Given the description of an element on the screen output the (x, y) to click on. 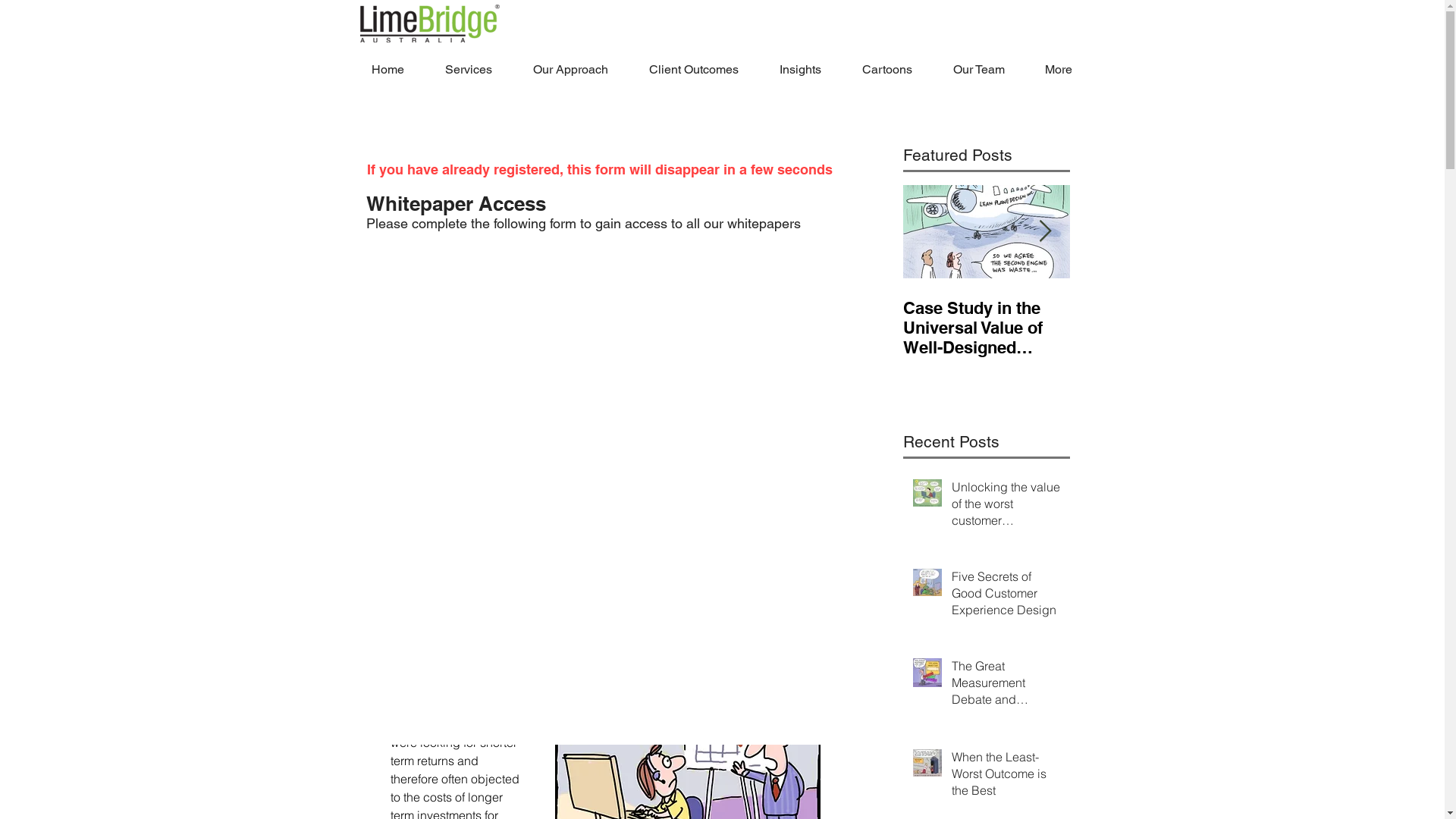
The Great Measurement Debate and Working from Home Element type: text (1005, 685)
Cartoons Element type: text (886, 69)
Omni-Channel Best Service is No Service Element type: text (1319, 327)
Client Outcomes Element type: text (692, 69)
Unlocking the value of the worst customer experiences Element type: text (1005, 506)
Five Secrets of Good Customer Experience Design Element type: text (1005, 595)
Customer Centric Answers to Bad Business Practices Element type: text (1152, 327)
Services Element type: text (468, 69)
Chatham House rules Element type: text (504, 386)
Our Approach Element type: text (570, 69)
Insights Element type: text (799, 69)
When the Least-Worst Outcome is the Best Element type: text (1005, 776)
Chief Customer Officer Forum Element type: text (726, 368)
Home Element type: text (386, 69)
Our Team Element type: text (978, 69)
